Given the description of an element on the screen output the (x, y) to click on. 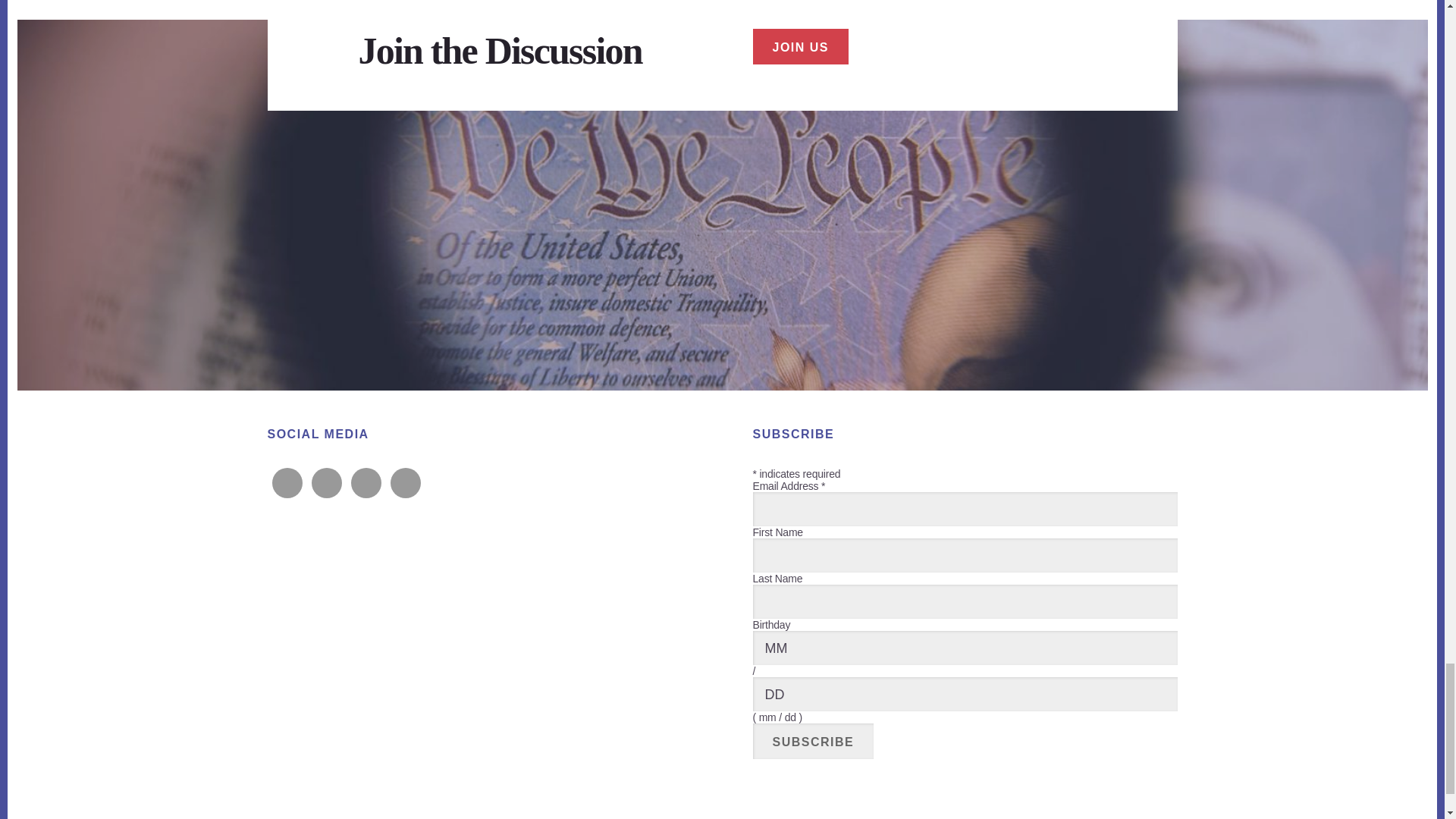
Subscribe (812, 741)
